Given the description of an element on the screen output the (x, y) to click on. 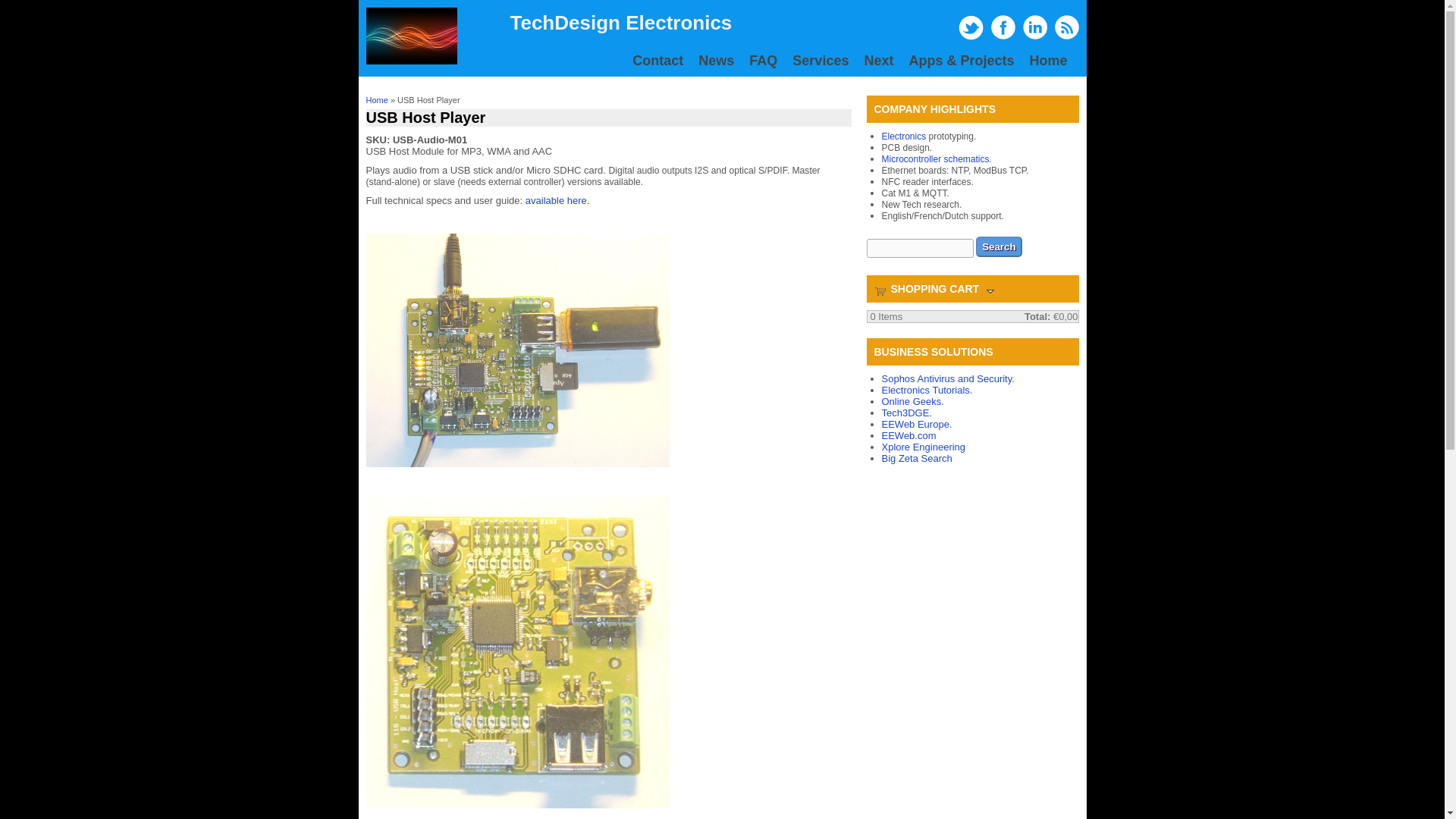
Next (878, 60)
Xplore Engineering (922, 446)
available here. (557, 200)
Home (376, 99)
News (715, 60)
Company Services Overview (820, 60)
Microcontroller schematics (934, 158)
Services (820, 60)
TechDesign Electronics (620, 22)
EEWeb.com (908, 434)
Electronics (903, 136)
Big Zeta Search (916, 457)
EEWeb Europe. (916, 423)
Enter the terms you wish to search for. (919, 248)
